Given the description of an element on the screen output the (x, y) to click on. 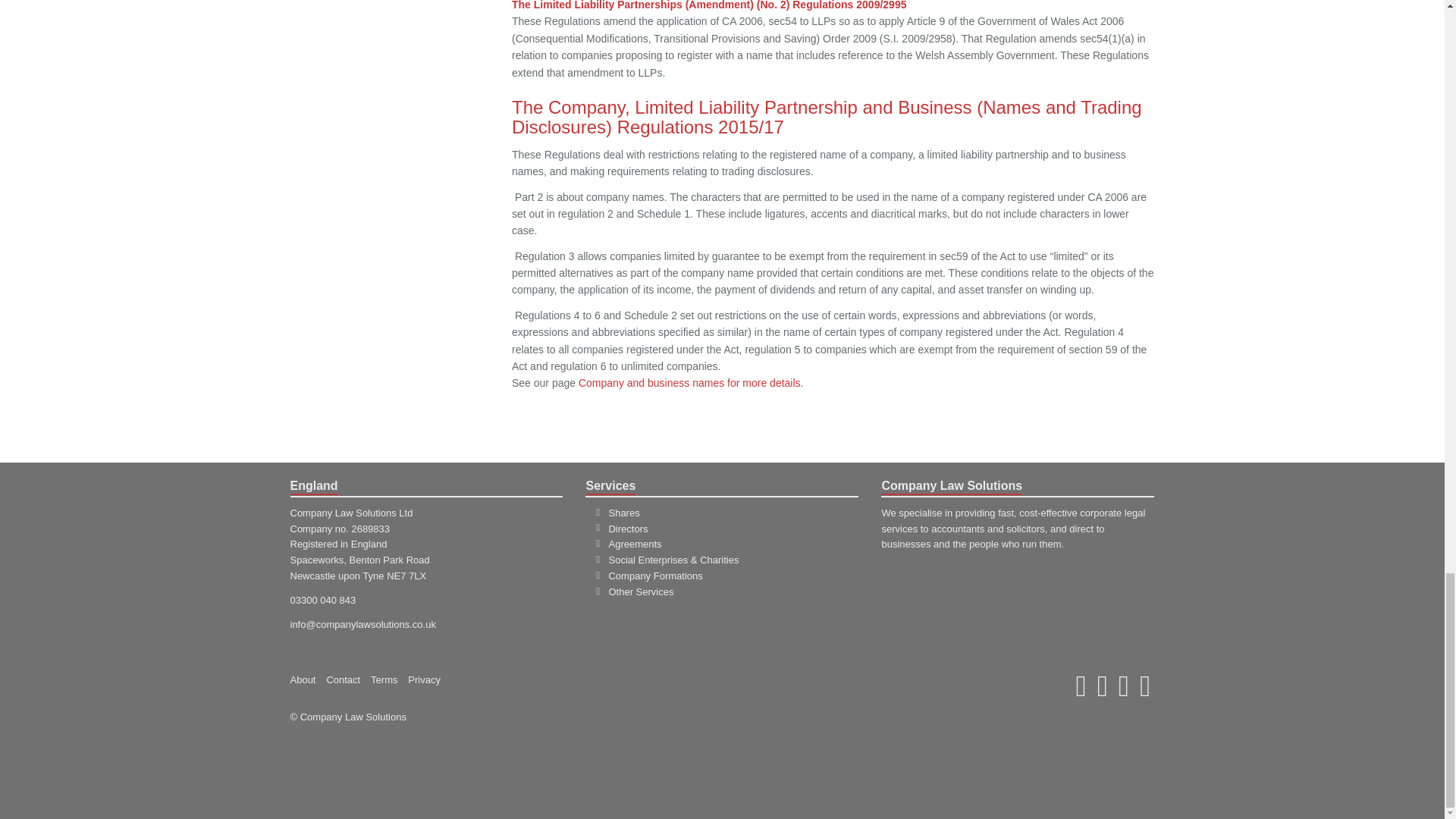
Like on Facebook (1123, 692)
Follow us on LinkedIn (1145, 692)
Follow us on Twitter (1102, 692)
